Given the description of an element on the screen output the (x, y) to click on. 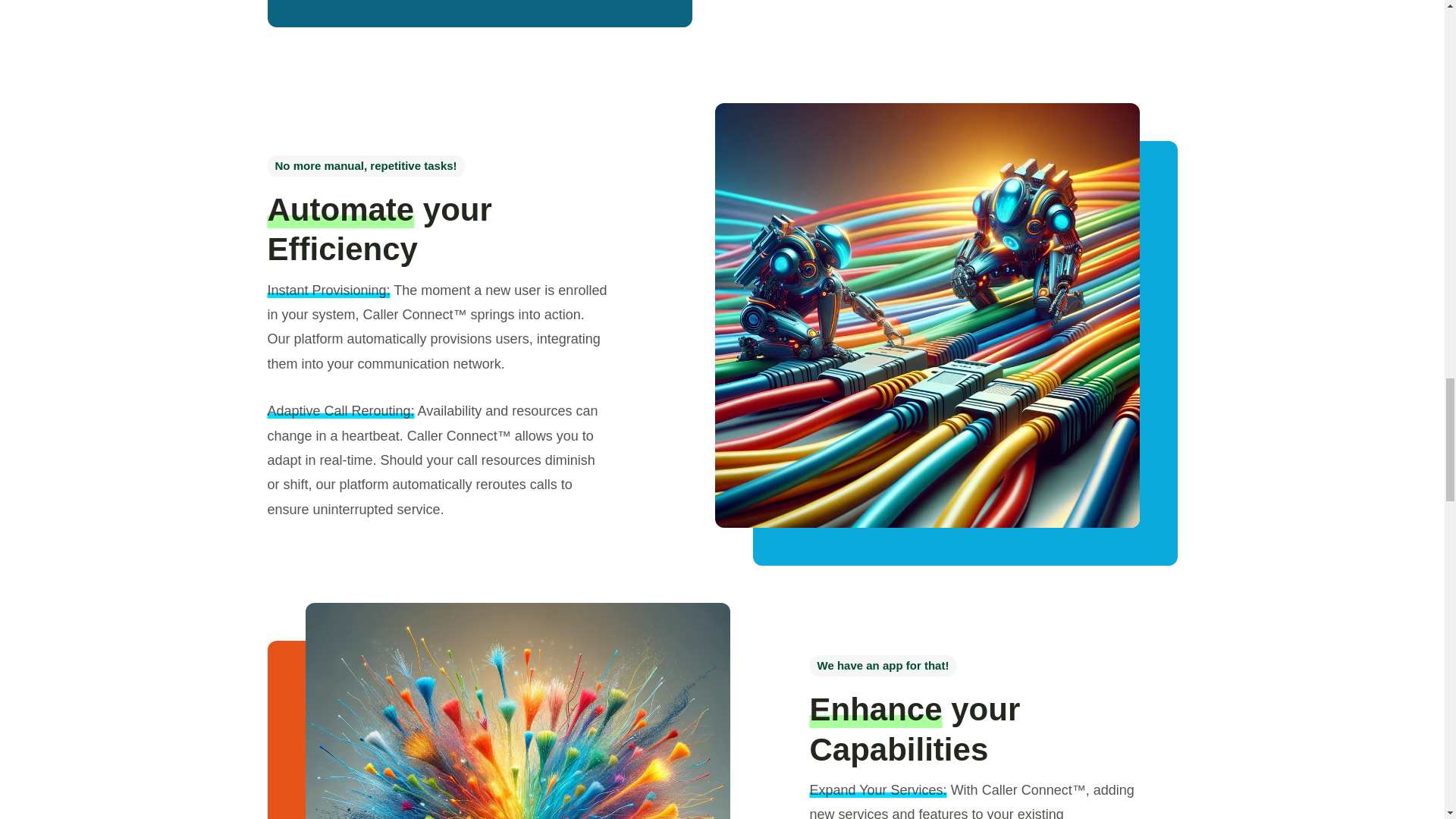
cc-enhance (516, 710)
